Given the description of an element on the screen output the (x, y) to click on. 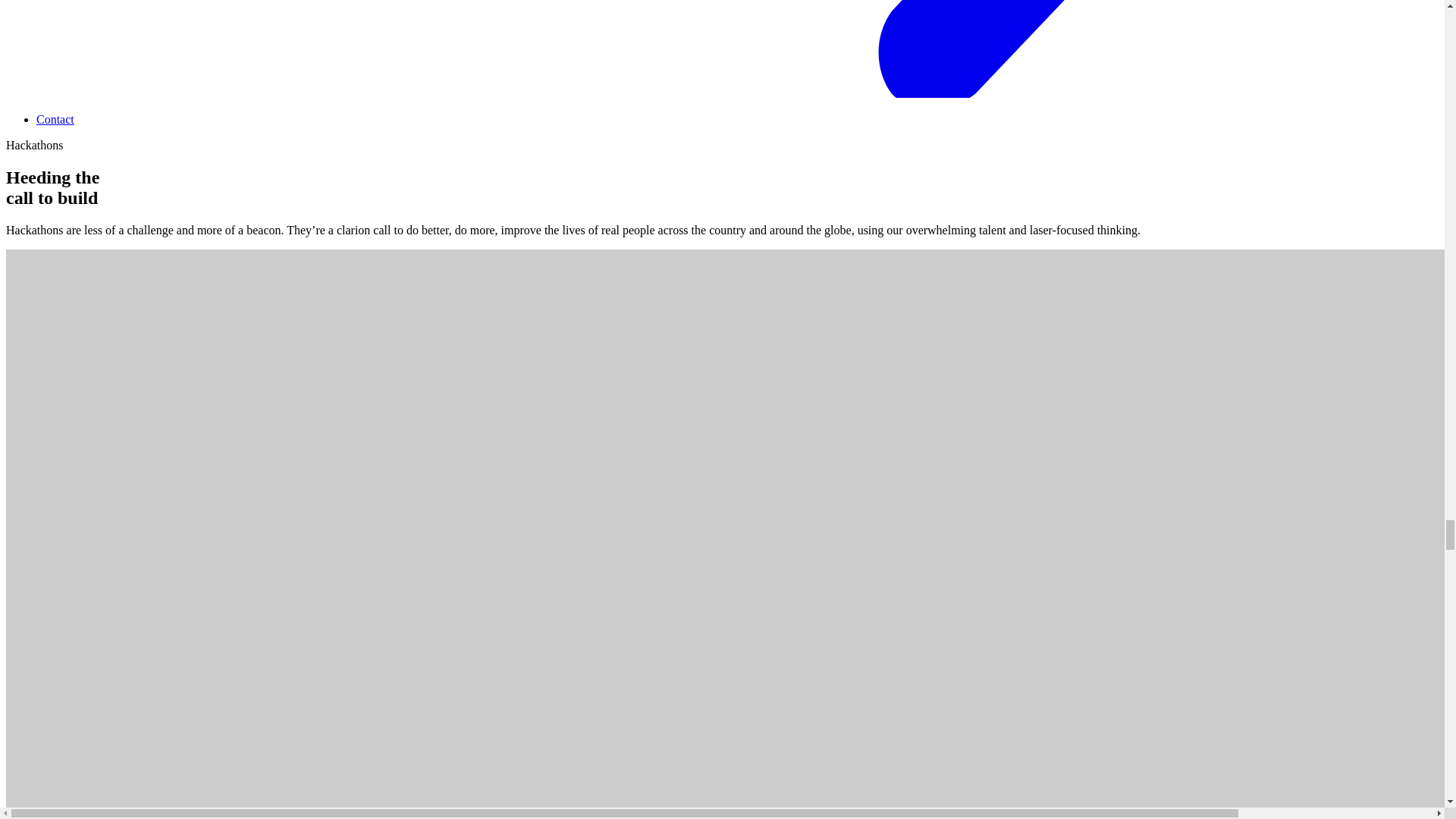
Contact (55, 119)
